Given the description of an element on the screen output the (x, y) to click on. 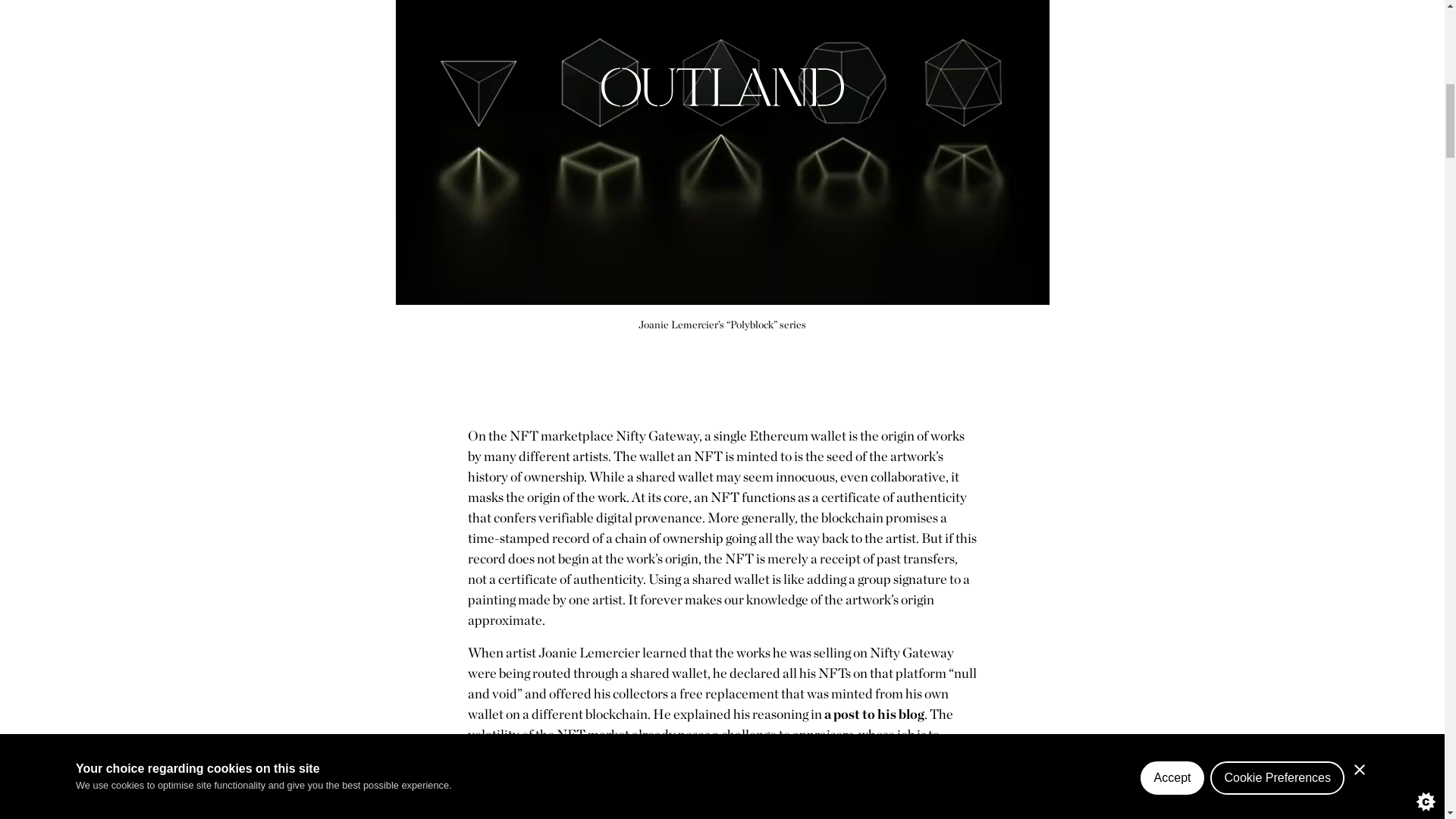
a report from UBS and Art Basel (834, 754)
Accept (1172, 17)
a post to his blog (873, 713)
Cookie Preferences (1276, 12)
